Given the description of an element on the screen output the (x, y) to click on. 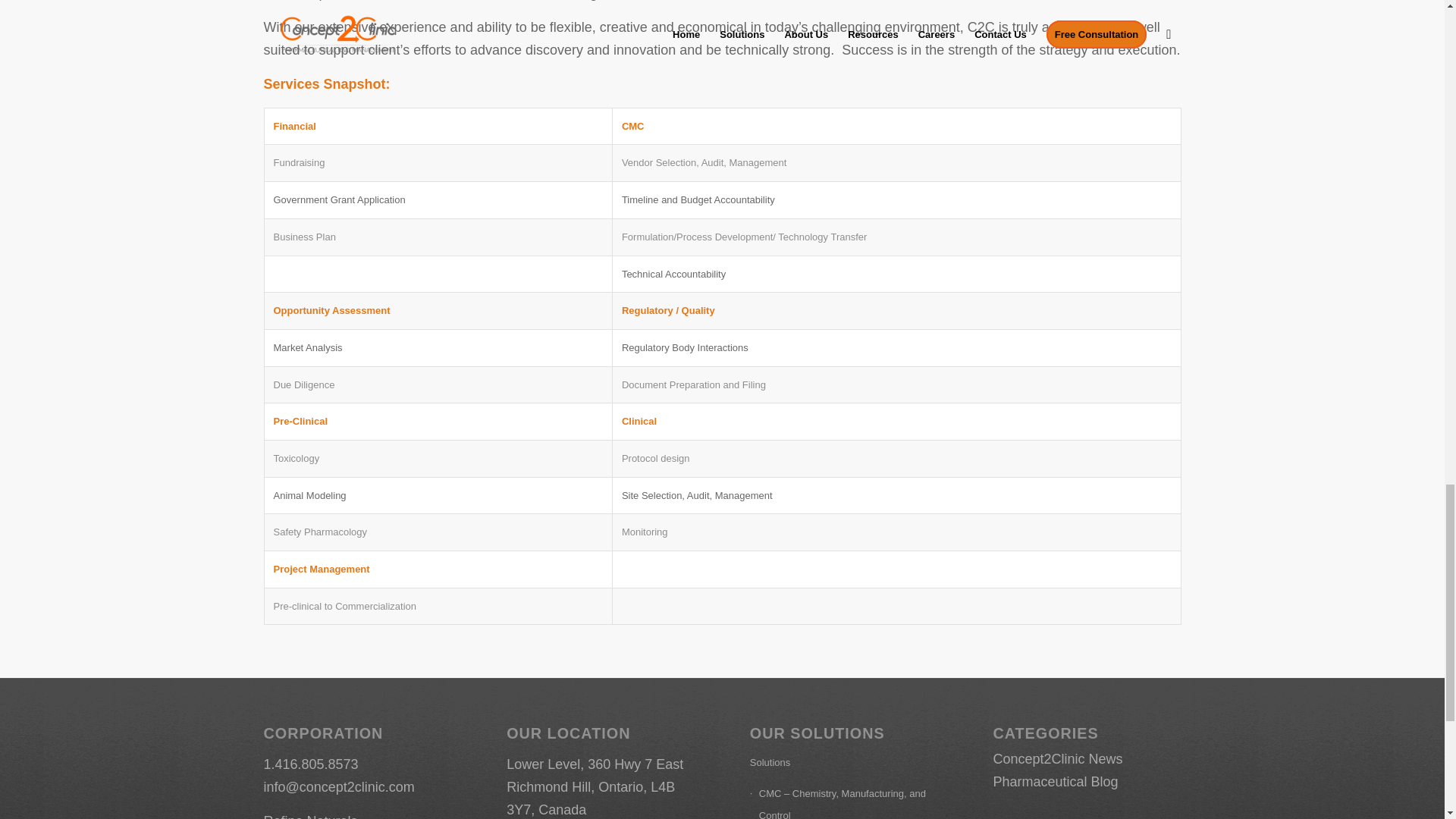
Concept2Clinic News (1057, 758)
Solutions (843, 763)
Refine Naturals (310, 816)
